Given the description of an element on the screen output the (x, y) to click on. 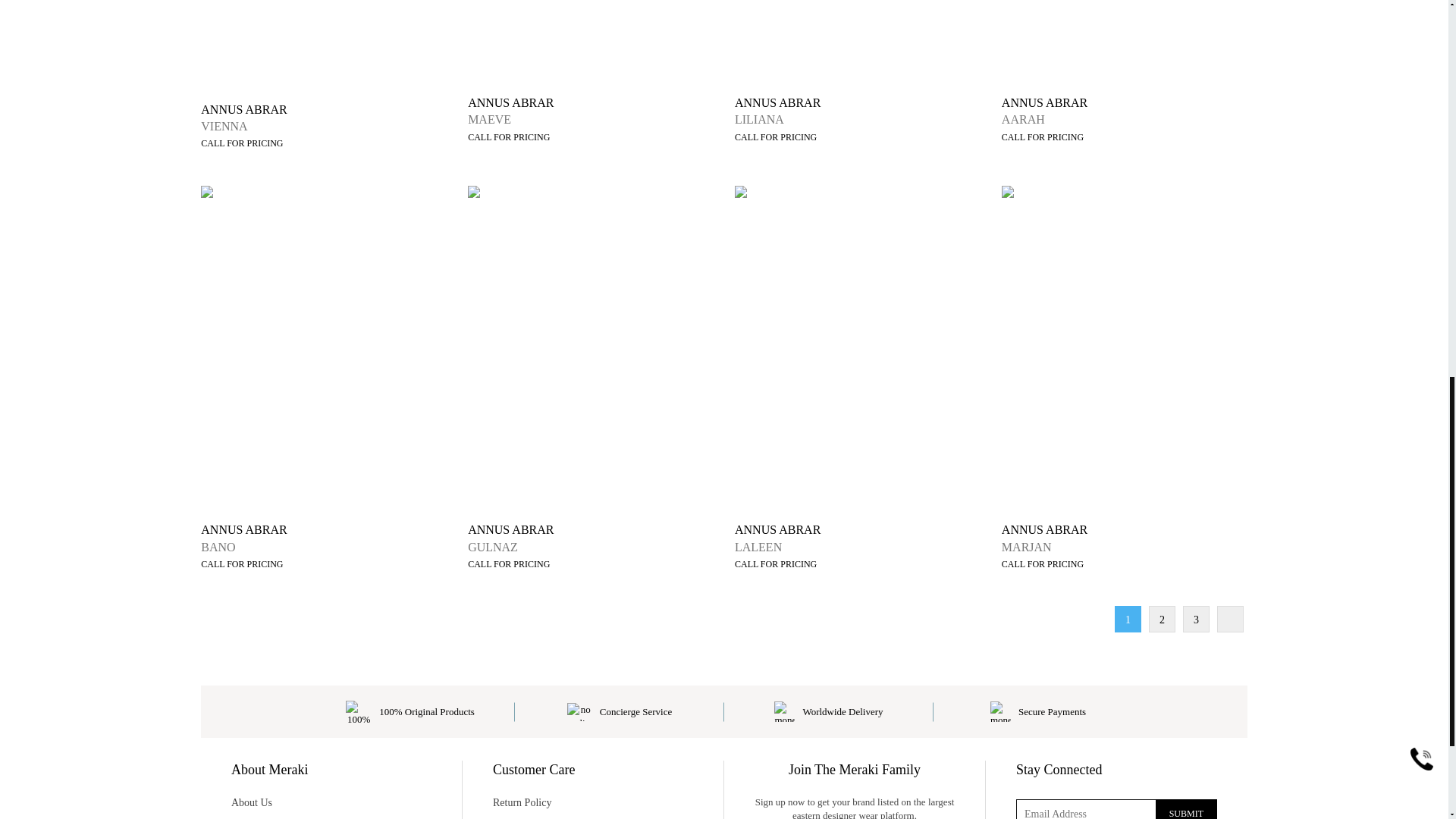
Submit (1186, 809)
